Given the description of an element on the screen output the (x, y) to click on. 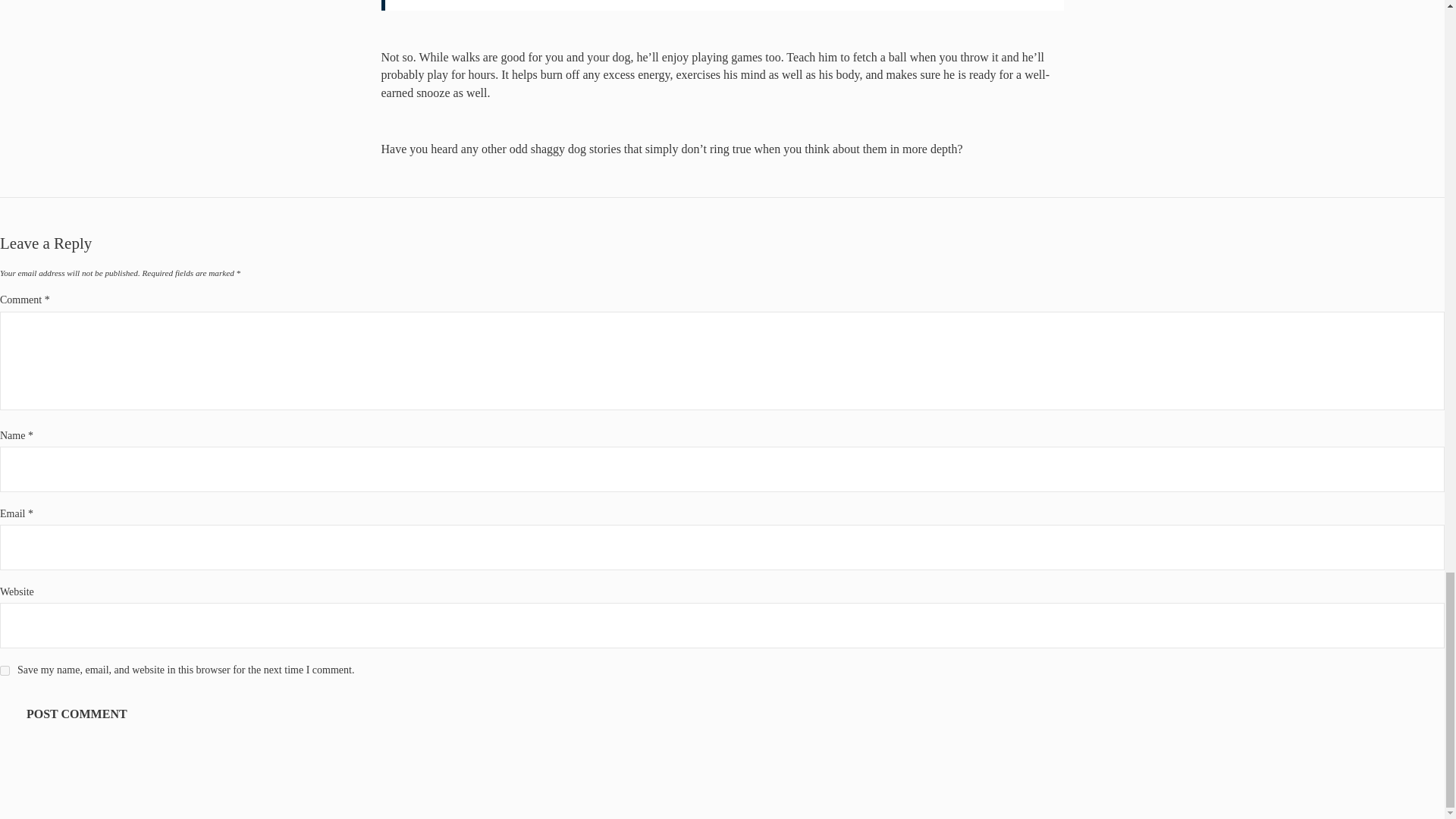
Post Comment (77, 713)
odd shaggy (536, 148)
yes (5, 670)
Post Comment (77, 713)
